Given the description of an element on the screen output the (x, y) to click on. 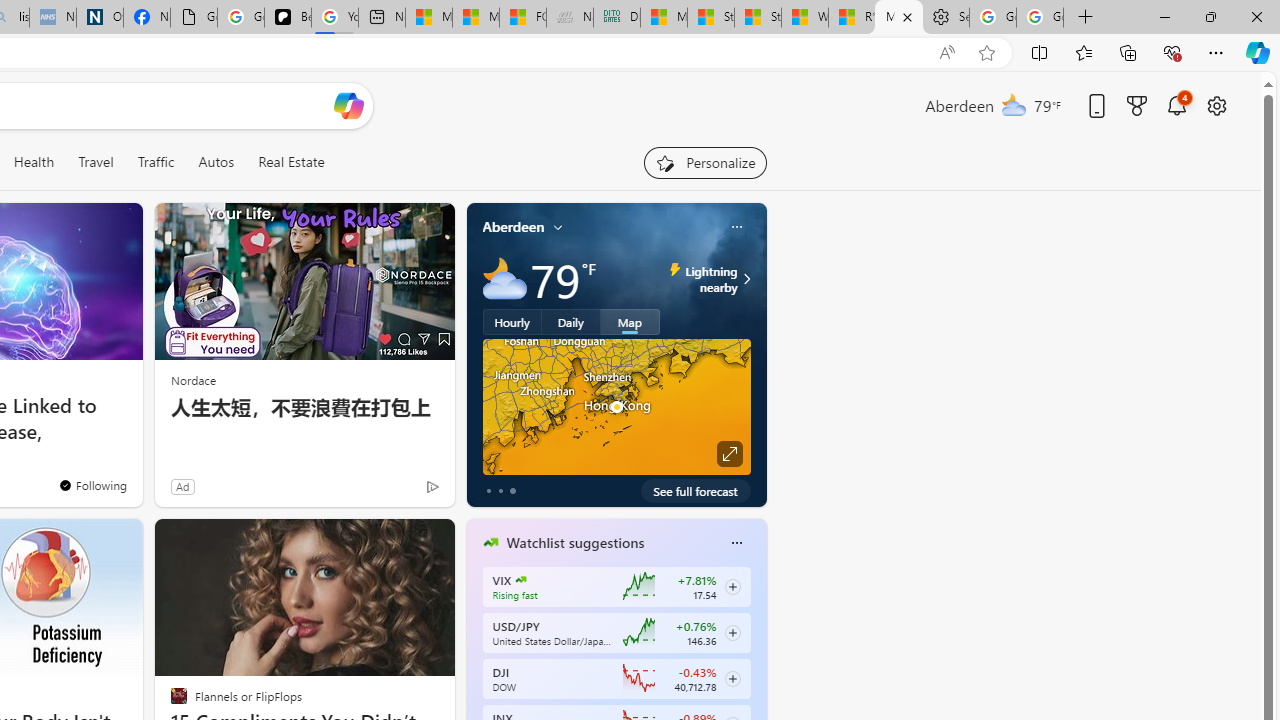
Personalize your feed" (704, 162)
Watchlist suggestions (575, 543)
Lightning nearby (744, 278)
